Given the description of an element on the screen output the (x, y) to click on. 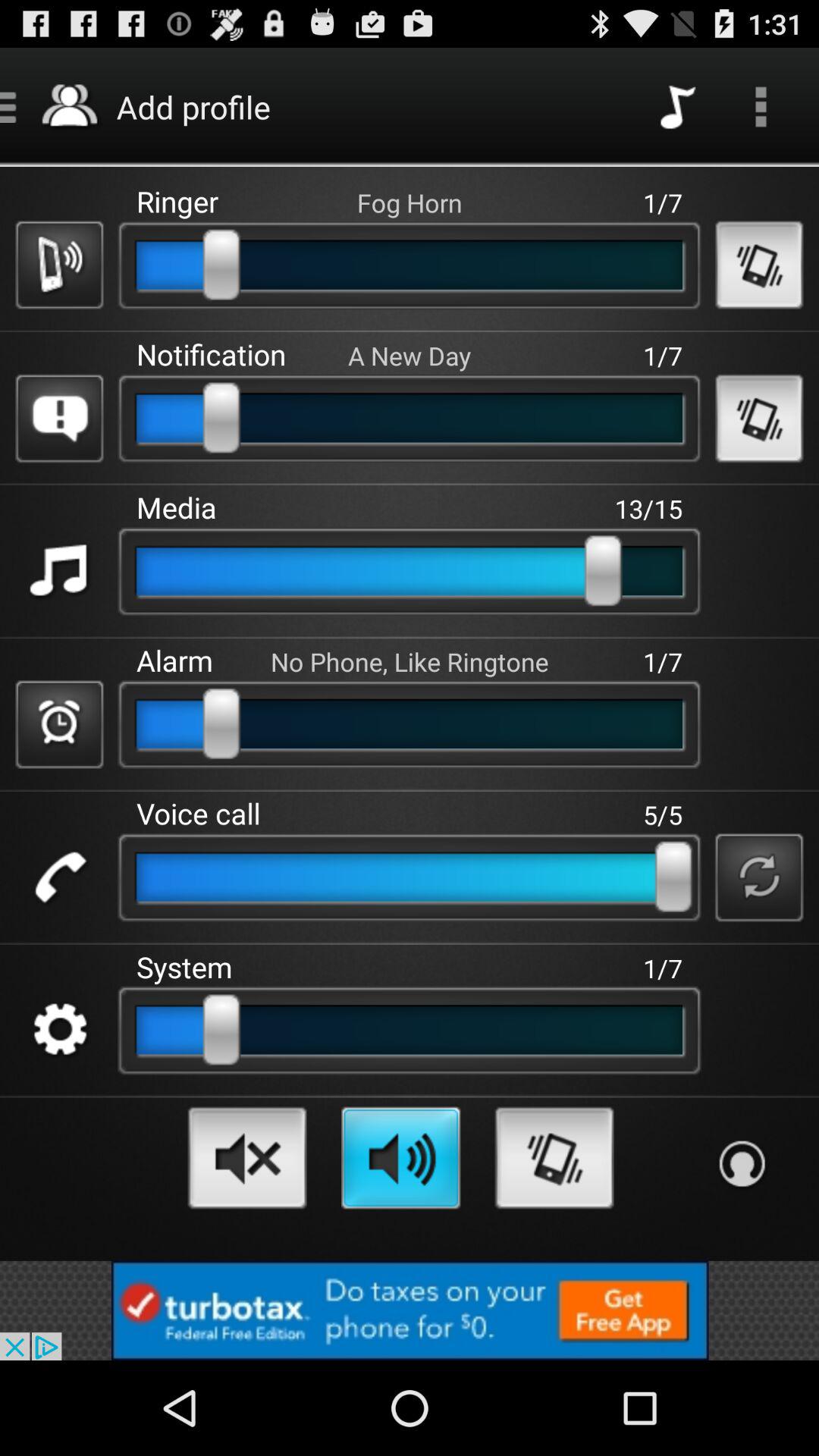
go view option (760, 106)
